Given the description of an element on the screen output the (x, y) to click on. 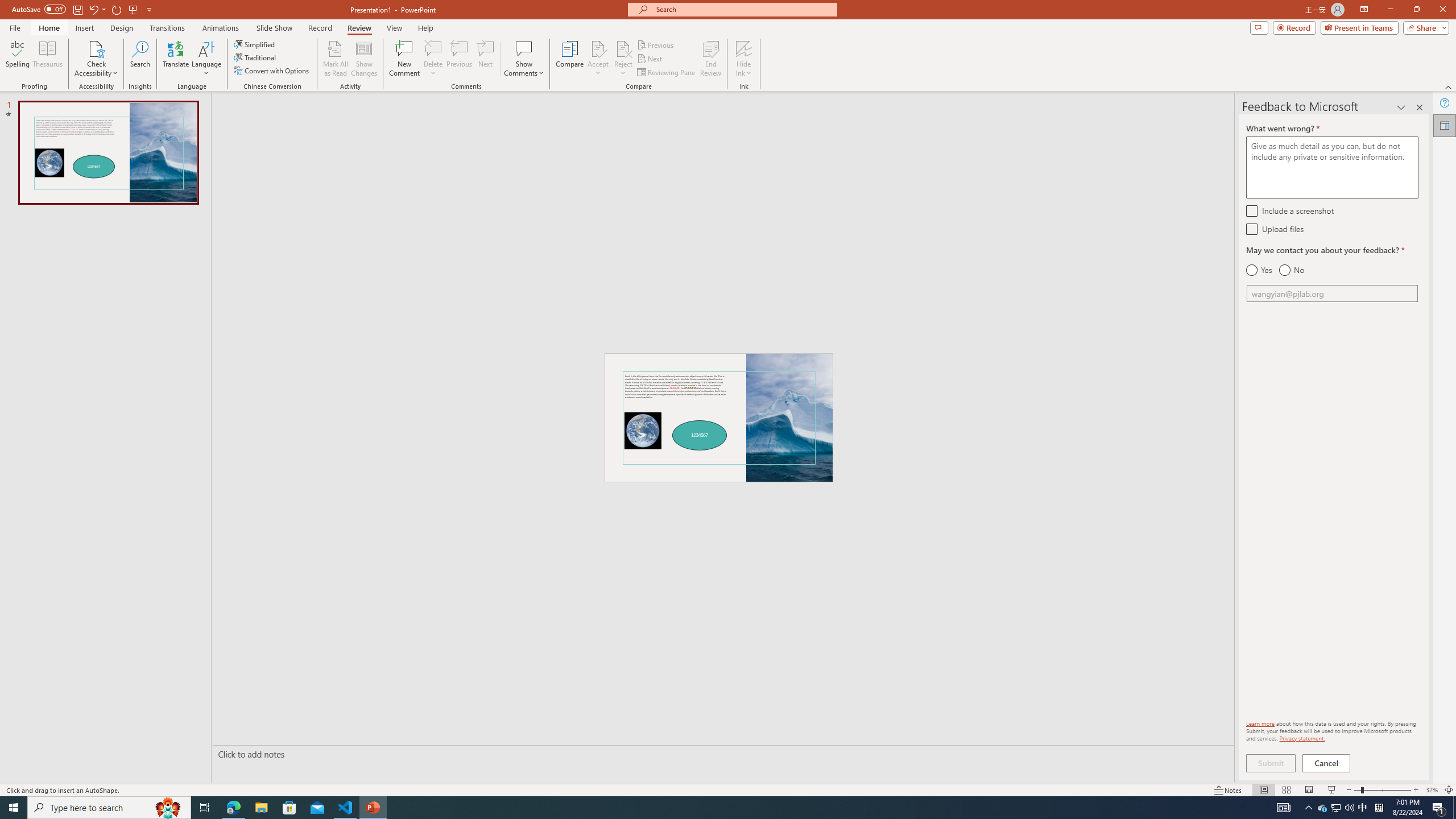
Zoom to Fit  (1449, 790)
Class: MsoCommandBar (728, 789)
Cancel (1327, 763)
Notes  (1227, 790)
Traditional (255, 56)
